Given the description of an element on the screen output the (x, y) to click on. 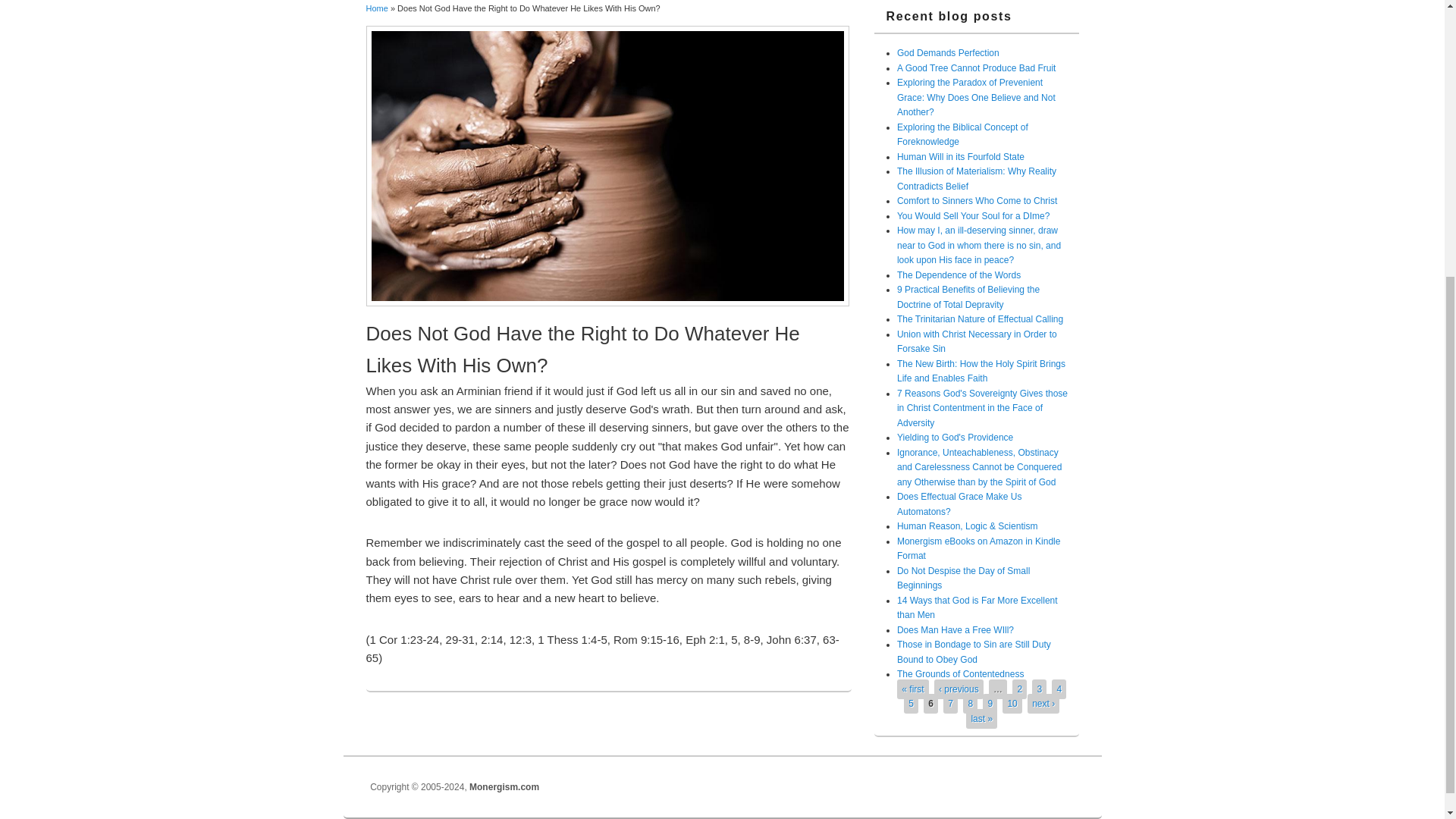
Human Will in its Fourfold State (960, 156)
Go to first page (912, 688)
Monergism eBooks on Amazon in Kindle Format (977, 548)
Union with Christ Necessary in Order to Forsake Sin (976, 341)
You Would Sell Your Soul for a DIme? (972, 215)
Does Man Have a Free WIll? (954, 629)
A Good Tree Cannot Produce Bad Fruit (975, 68)
